Given the description of an element on the screen output the (x, y) to click on. 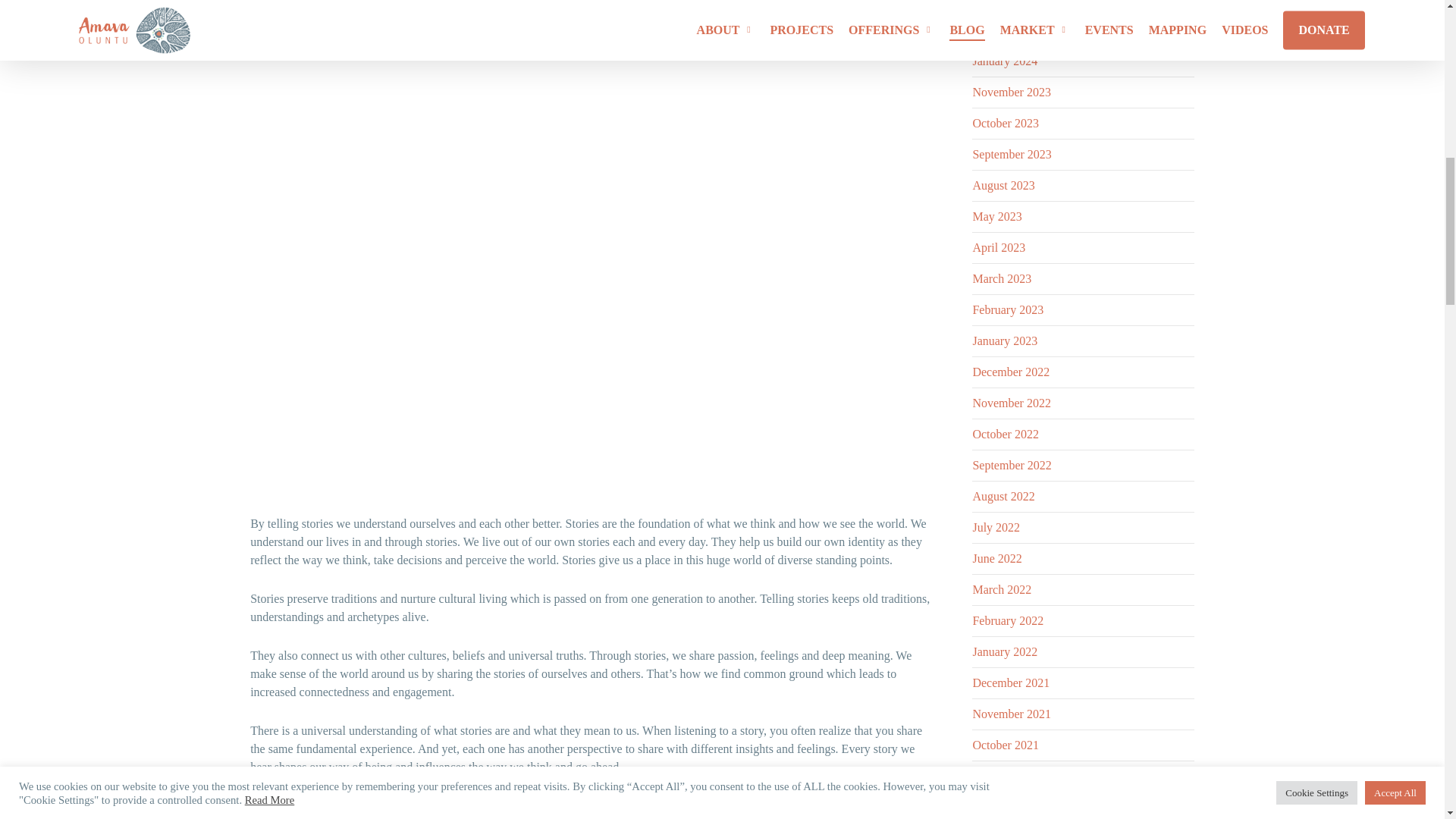
June 2024 (997, 2)
